Given the description of an element on the screen output the (x, y) to click on. 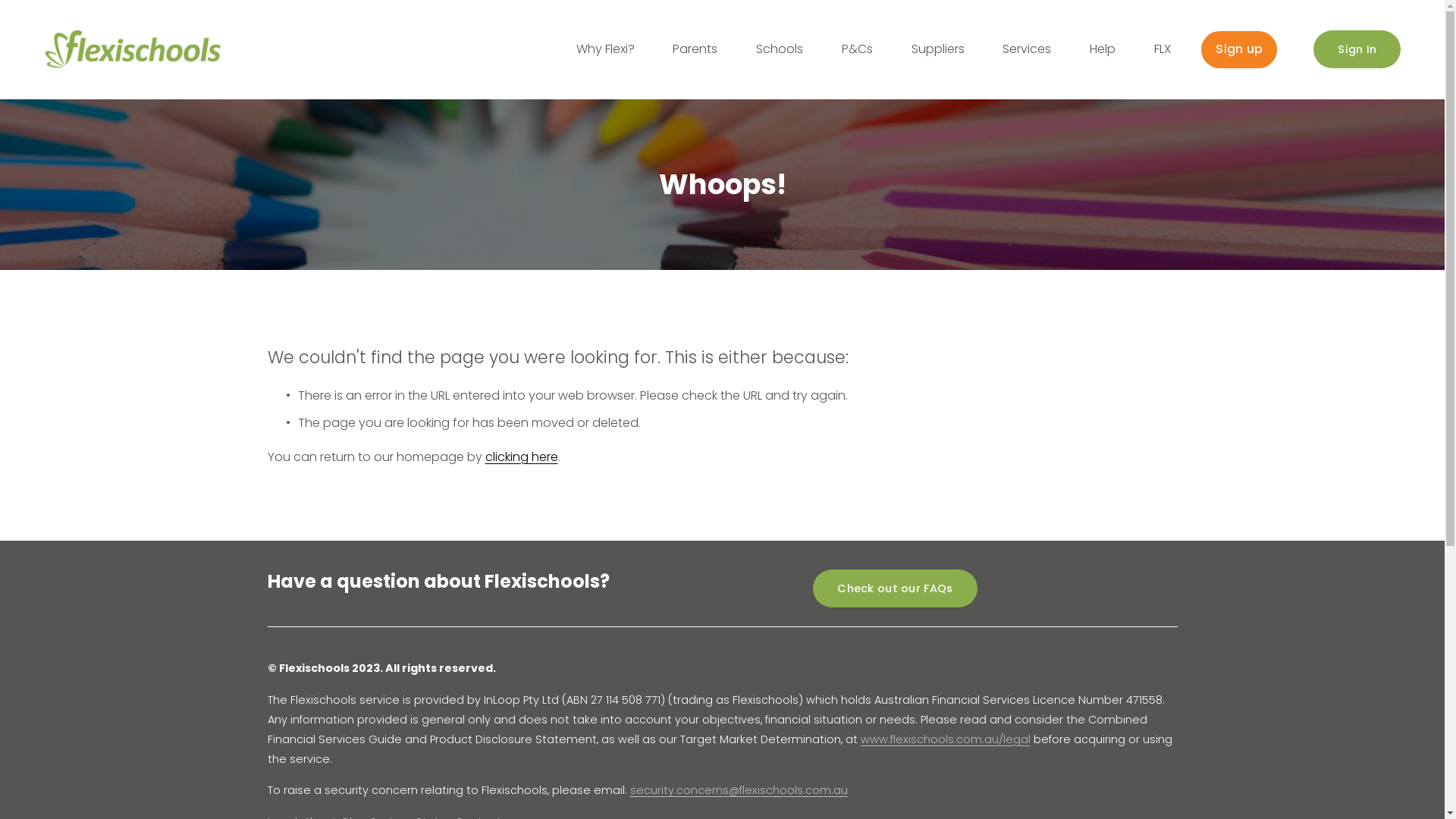
Parents Element type: text (694, 49)
clicking here Element type: text (521, 456)
Check out our FAQs Element type: text (894, 588)
Schools Element type: text (779, 49)
FLX Element type: text (1162, 49)
Why Flexi? Element type: text (605, 49)
security.concerns@flexischools.com.au Element type: text (738, 790)
P&Cs Element type: text (857, 49)
Sign up Element type: text (1239, 49)
Suppliers Element type: text (937, 49)
www.flexischools.com.au/legal Element type: text (944, 739)
Services Element type: text (1026, 49)
Help Element type: text (1102, 49)
Sign In Element type: text (1356, 49)
